Given the description of an element on the screen output the (x, y) to click on. 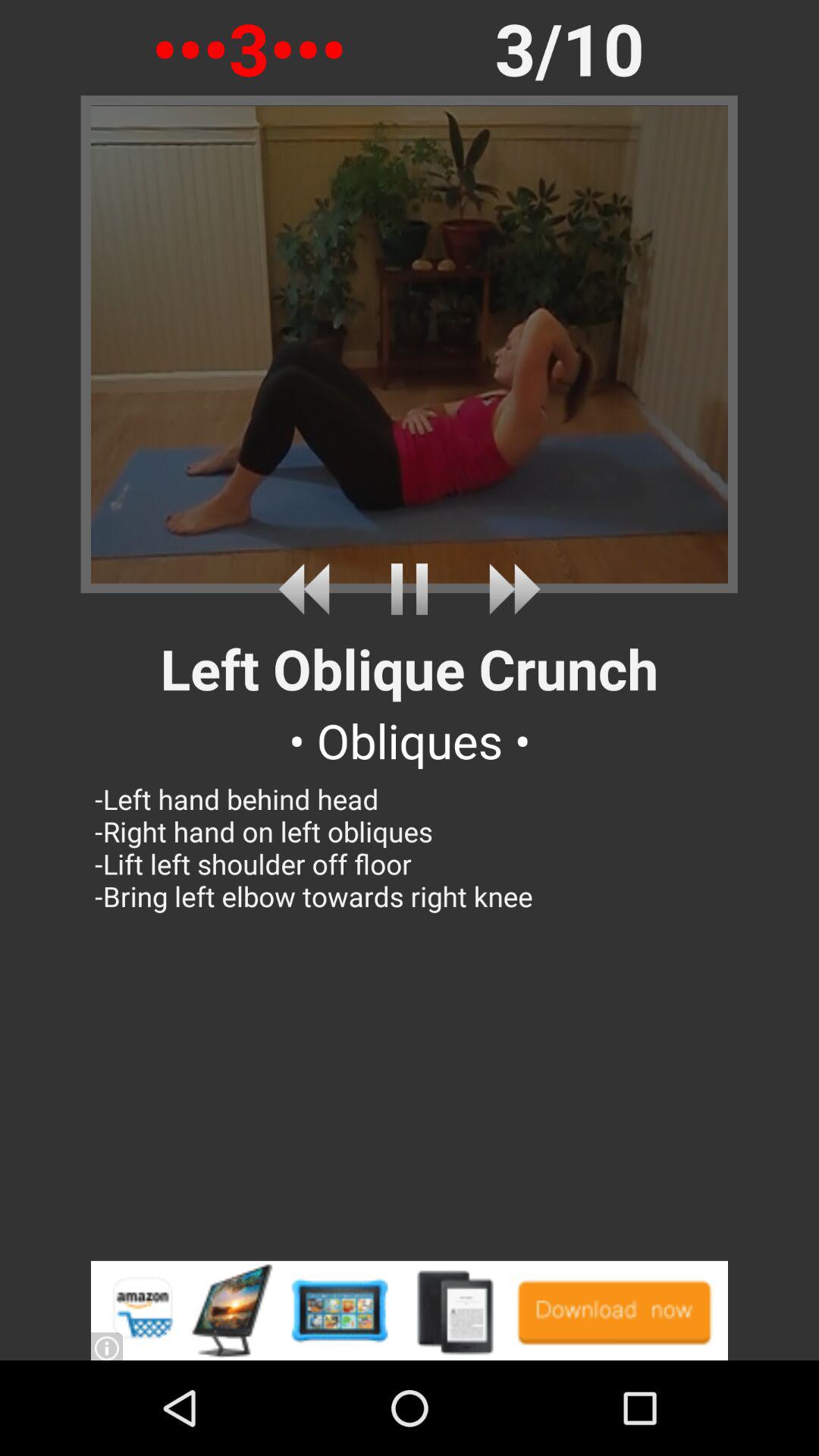
pause (409, 589)
